Given the description of an element on the screen output the (x, y) to click on. 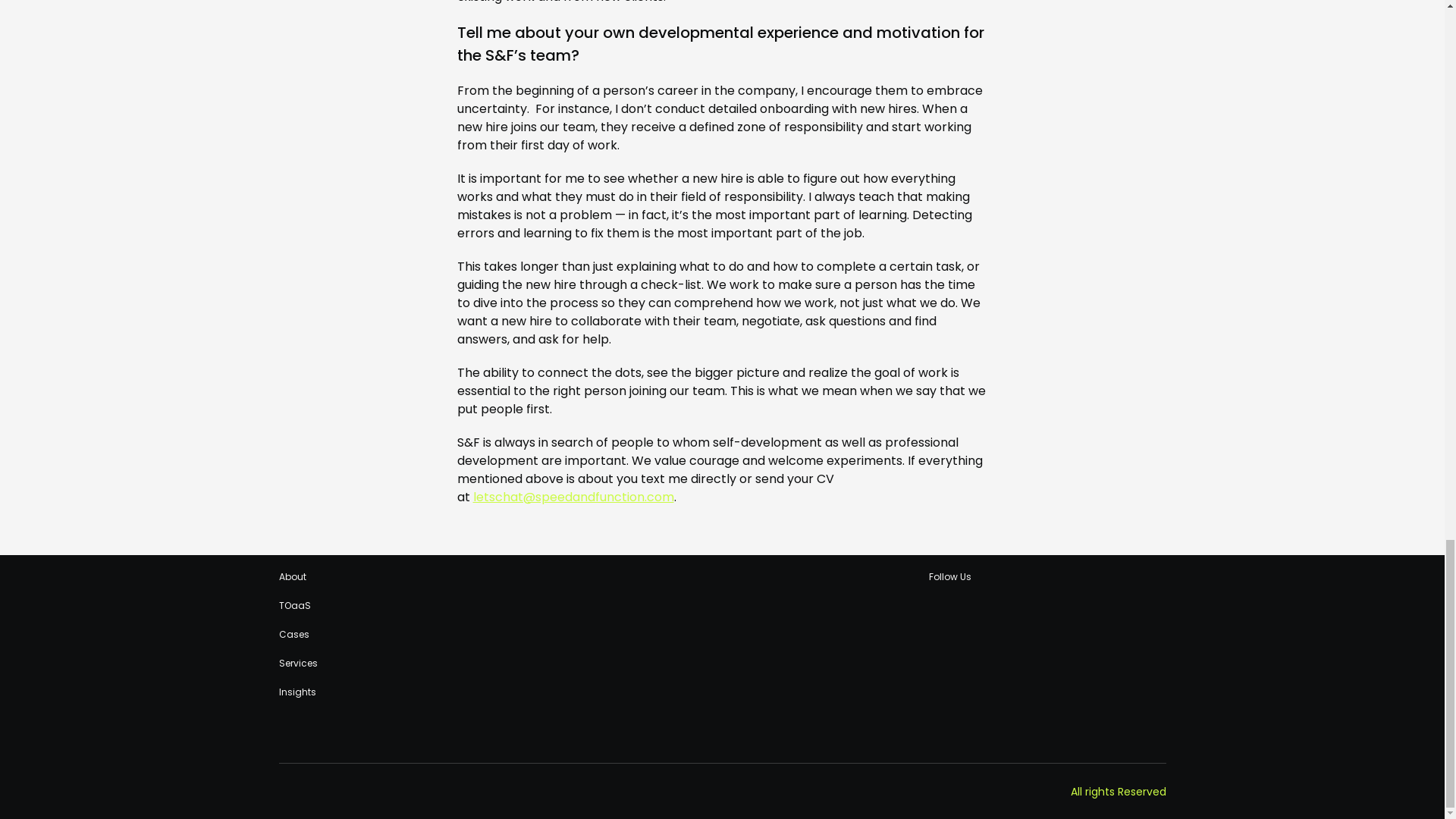
TOaaS (295, 605)
About (292, 576)
Services (298, 663)
Insights (297, 692)
Cases (293, 634)
